Given the description of an element on the screen output the (x, y) to click on. 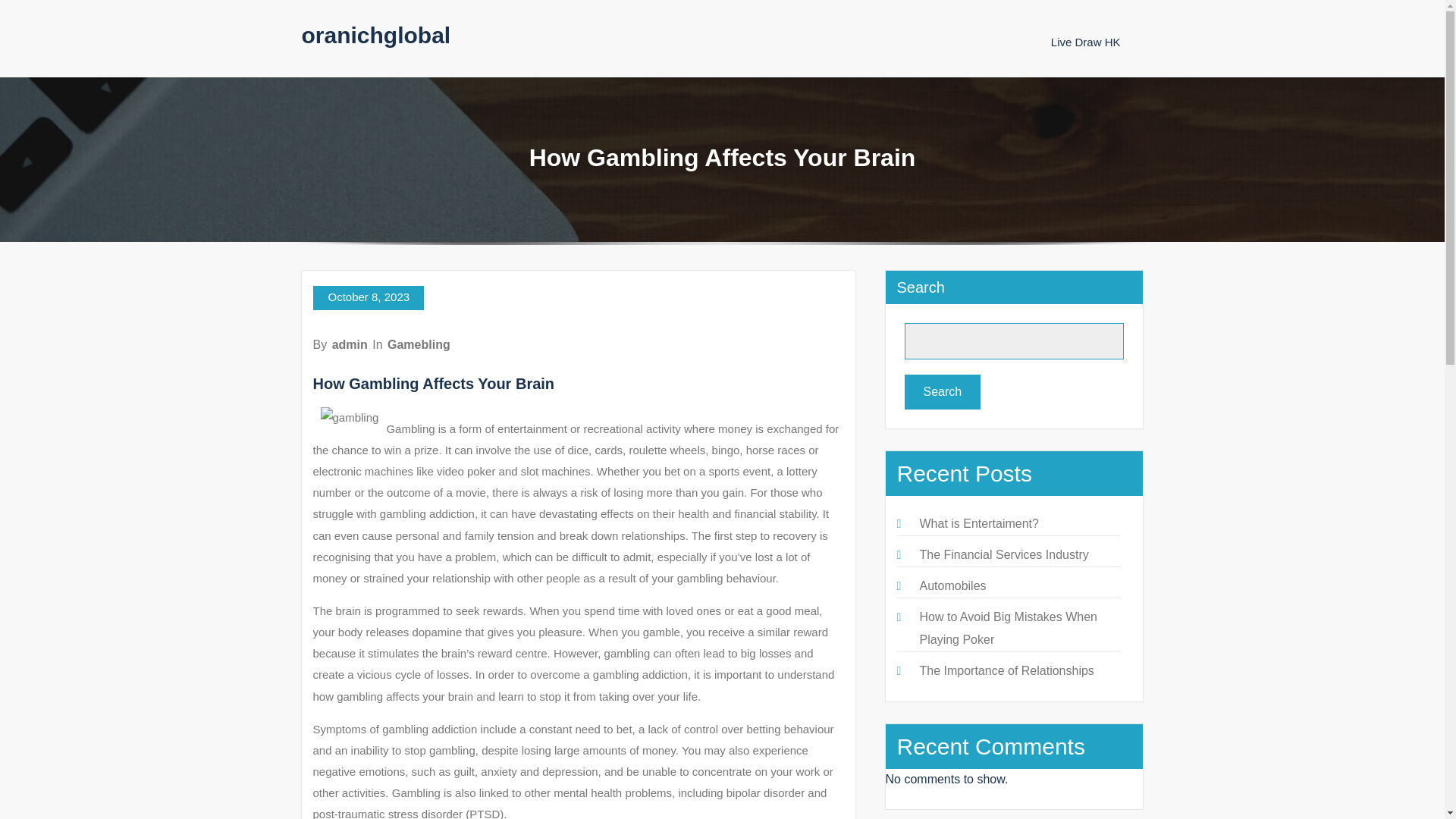
October 8, 2023 (368, 297)
admin (349, 344)
What is Entertaiment? (978, 522)
Live Draw HK (1086, 41)
The Financial Services Industry (1002, 554)
Gamebling (418, 344)
oranichglobal (376, 34)
Automobiles (951, 585)
How to Avoid Big Mistakes When Playing Poker (1007, 628)
Search (941, 391)
